Given the description of an element on the screen output the (x, y) to click on. 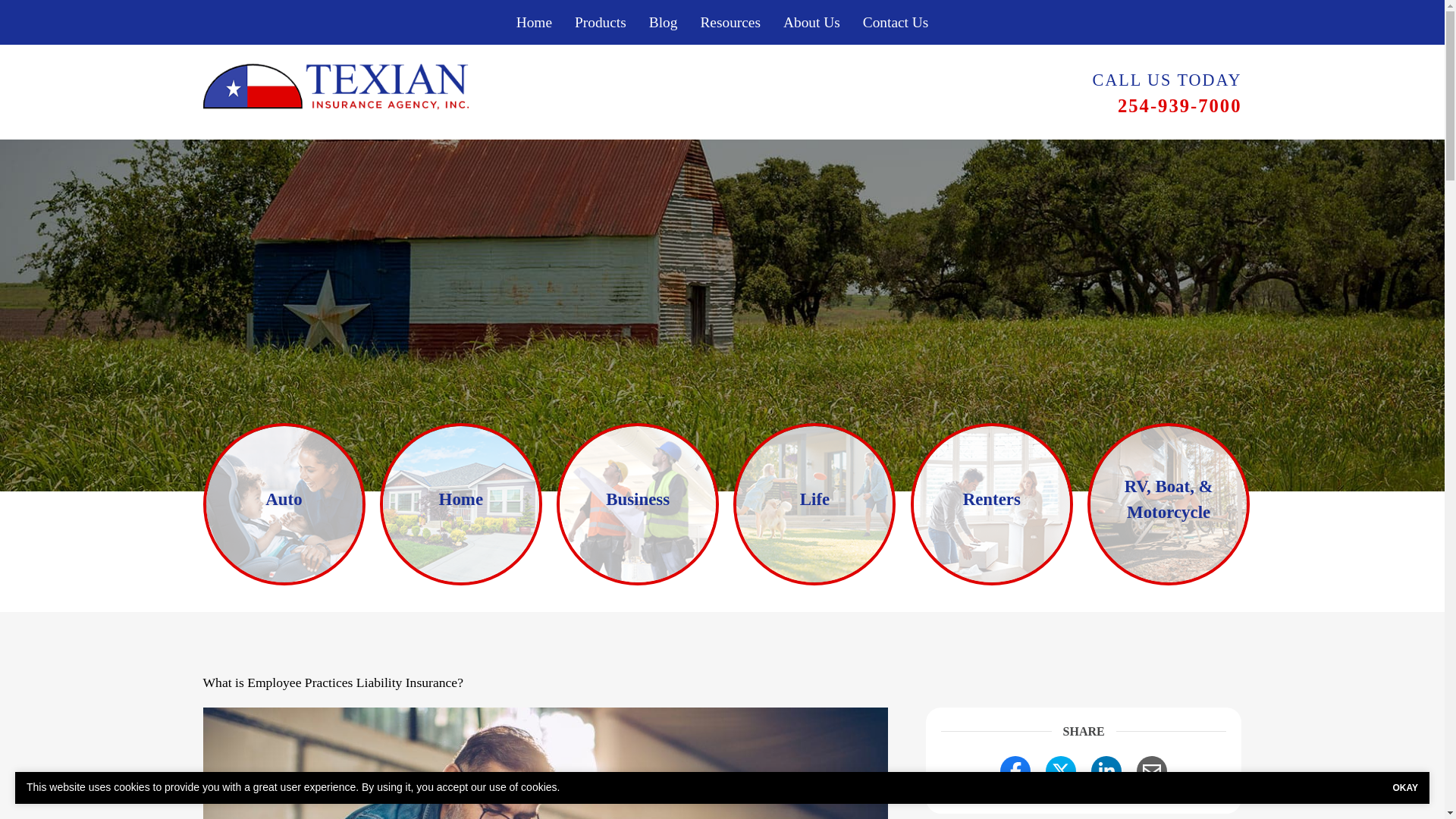
Contact Us (895, 22)
Auto (346, 504)
254-939-7000 (1179, 105)
Home (586, 504)
Share Link to Facebook (1015, 770)
Home (534, 22)
Share Link to LinkedIn (1105, 770)
Business (788, 504)
Blog (662, 22)
Share Link to Twitter (1060, 770)
Resources (729, 22)
Share Link to Email (1152, 770)
Products (600, 22)
About Us (811, 22)
